Given the description of an element on the screen output the (x, y) to click on. 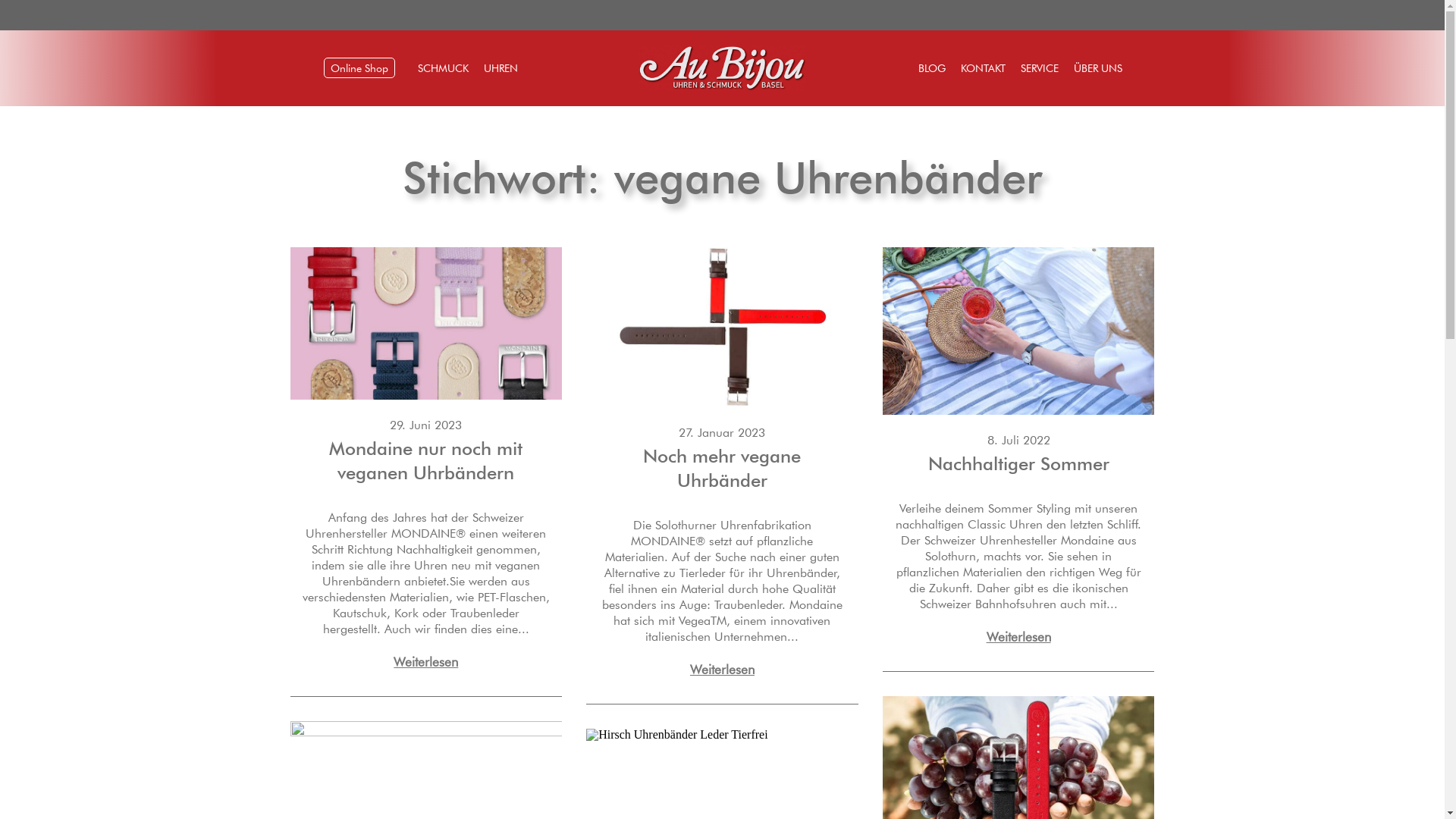
Online Shop Element type: text (359, 67)
Weiterlesen Element type: text (425, 661)
SCHMUCK Element type: text (442, 67)
SERVICE Element type: text (1039, 67)
BLOG Element type: text (931, 67)
Weiterlesen Element type: text (1018, 636)
Weiterlesen Element type: text (722, 668)
Au Bijou Uhren Schmuck Basel Element type: hover (722, 86)
KONTAKT Element type: text (982, 67)
UHREN Element type: text (500, 67)
